Given the description of an element on the screen output the (x, y) to click on. 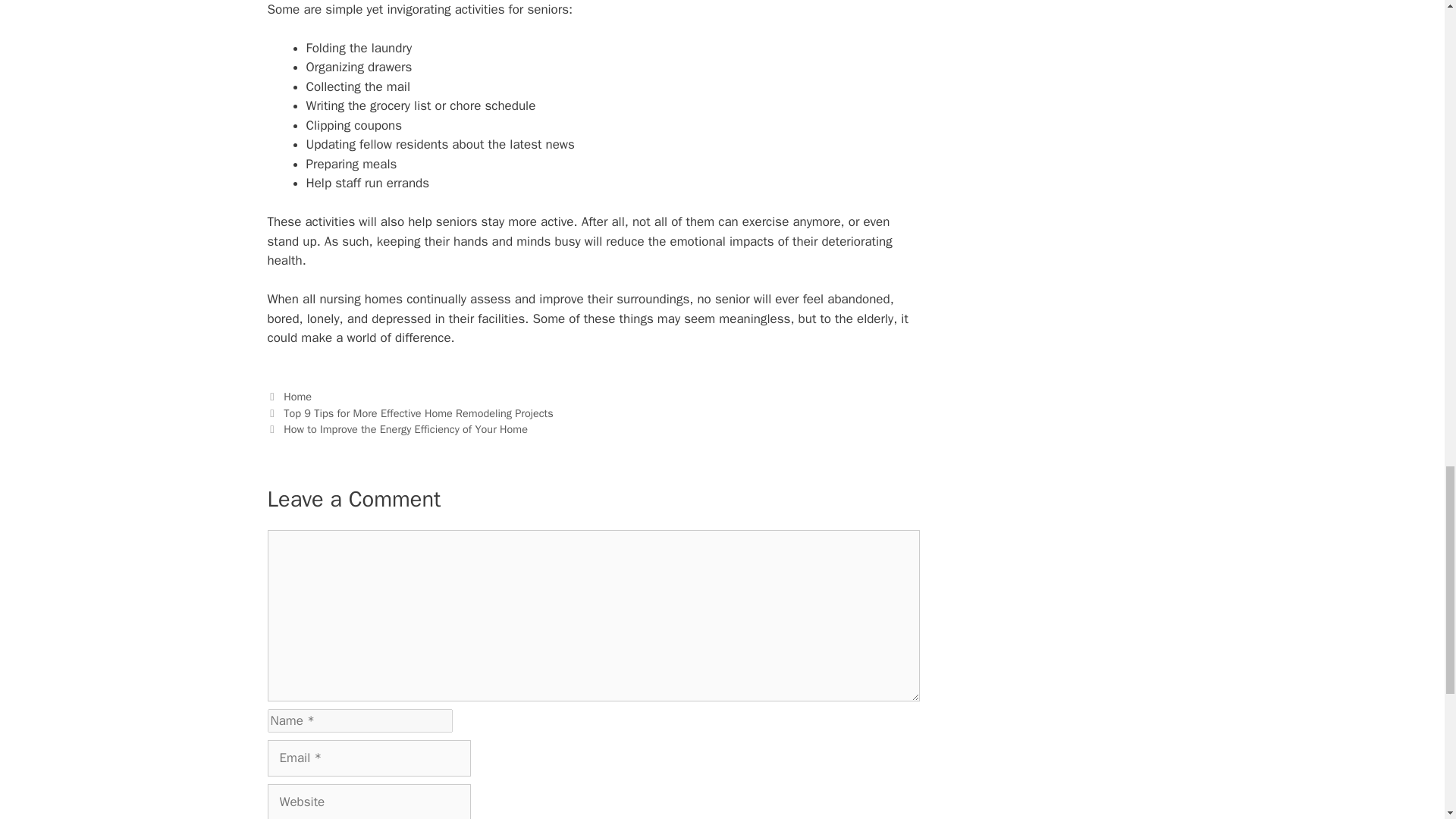
Home (297, 396)
Top 9 Tips for More Effective Home Remodeling Projects (418, 413)
How to Improve the Energy Efficiency of Your Home (405, 428)
Next (396, 428)
Previous (409, 413)
